Given the description of an element on the screen output the (x, y) to click on. 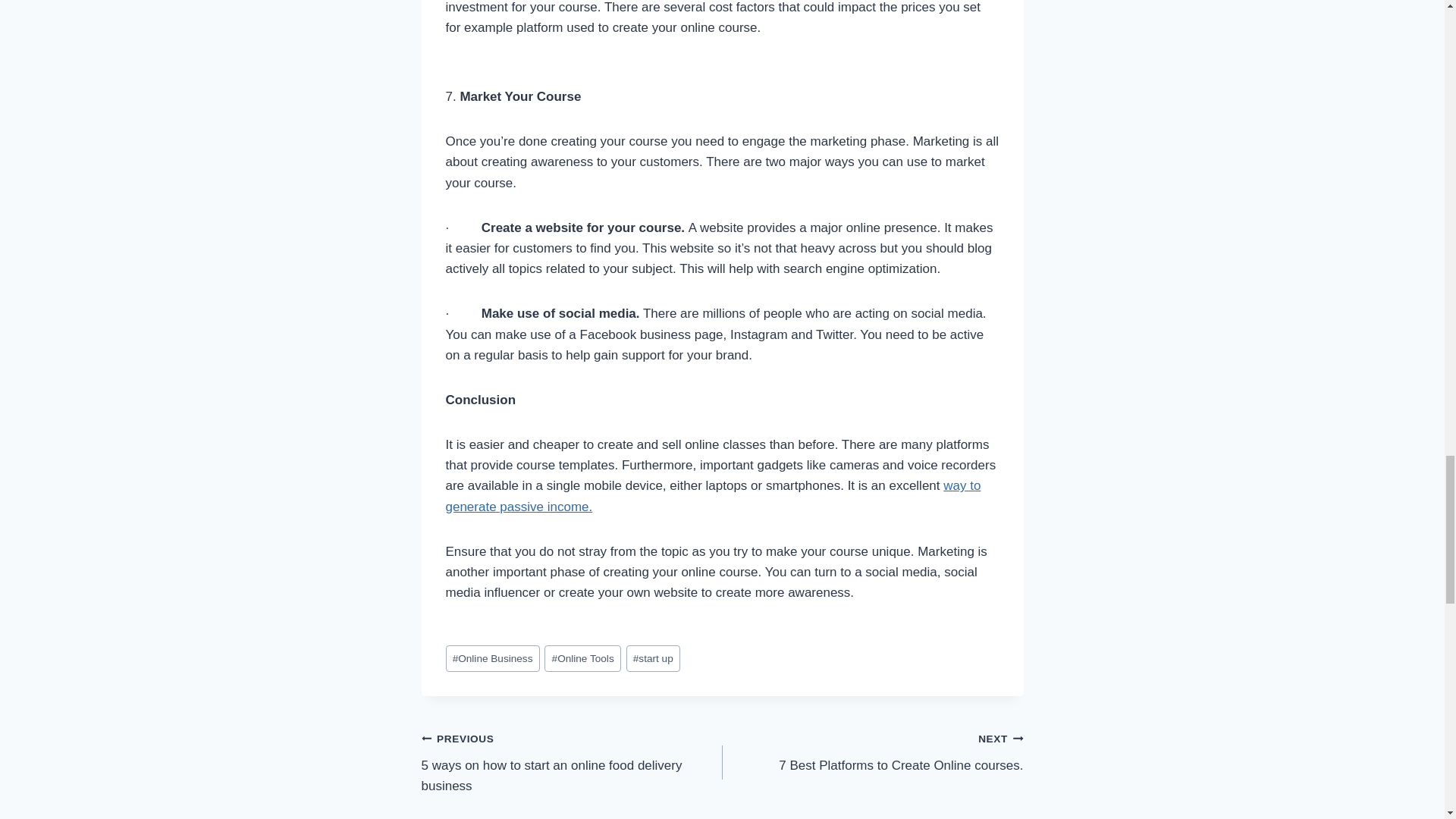
way to generate passive income. (713, 495)
Online Tools (872, 751)
start up (582, 658)
Online Business (652, 658)
